Given the description of an element on the screen output the (x, y) to click on. 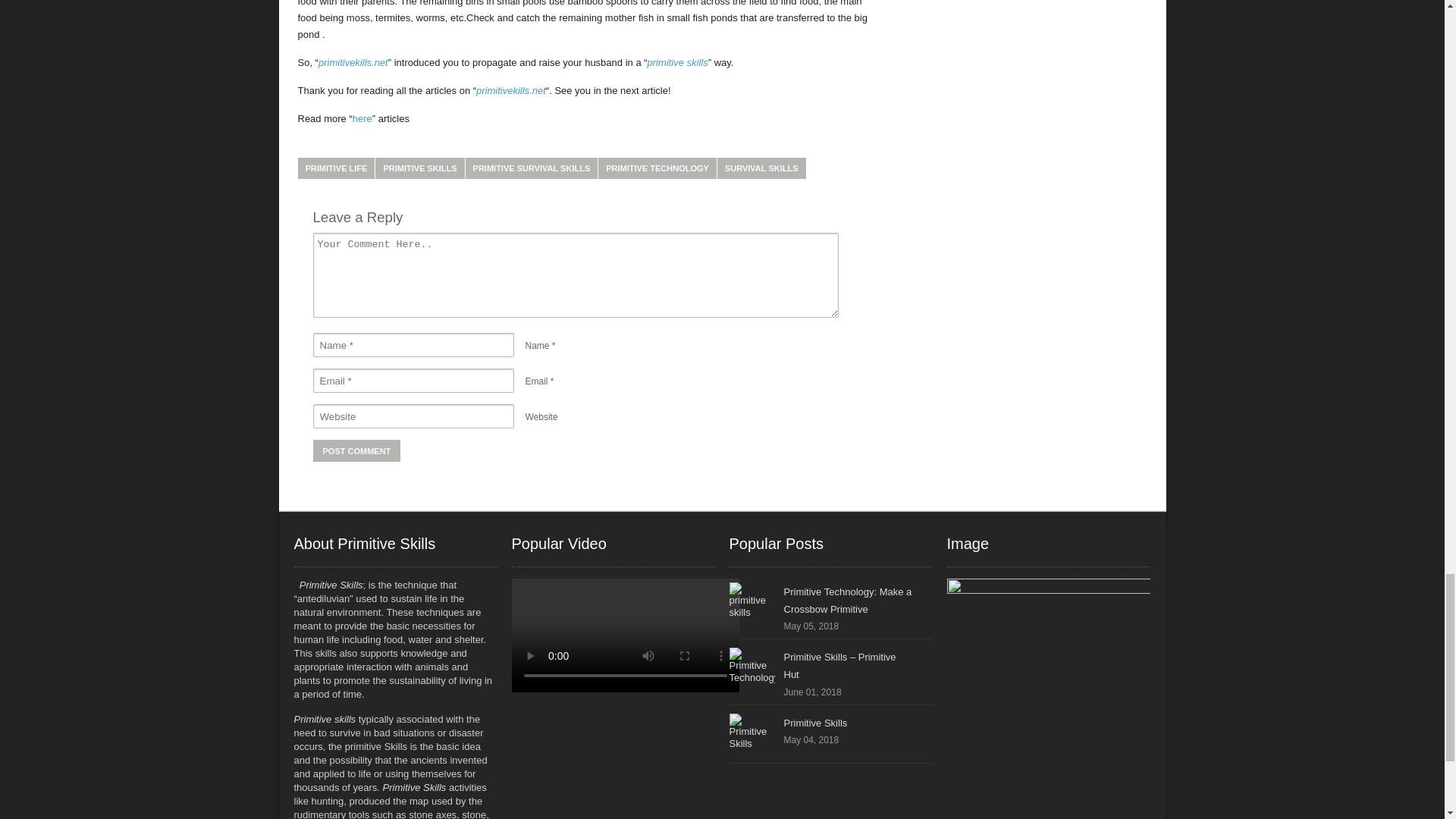
here (362, 117)
Primitive Technology: Make a Crossbow Primitive (751, 605)
primitive skills (677, 61)
SURVIVAL SKILLS (761, 168)
Post Comment (356, 450)
PRIMITIVE LIFE (335, 168)
primitivekills.net (353, 61)
Primitive Skills (751, 736)
Primitive Technology: Make a Crossbow Primitive (848, 600)
PRIMITIVE SURVIVAL SKILLS (531, 168)
